Given the description of an element on the screen output the (x, y) to click on. 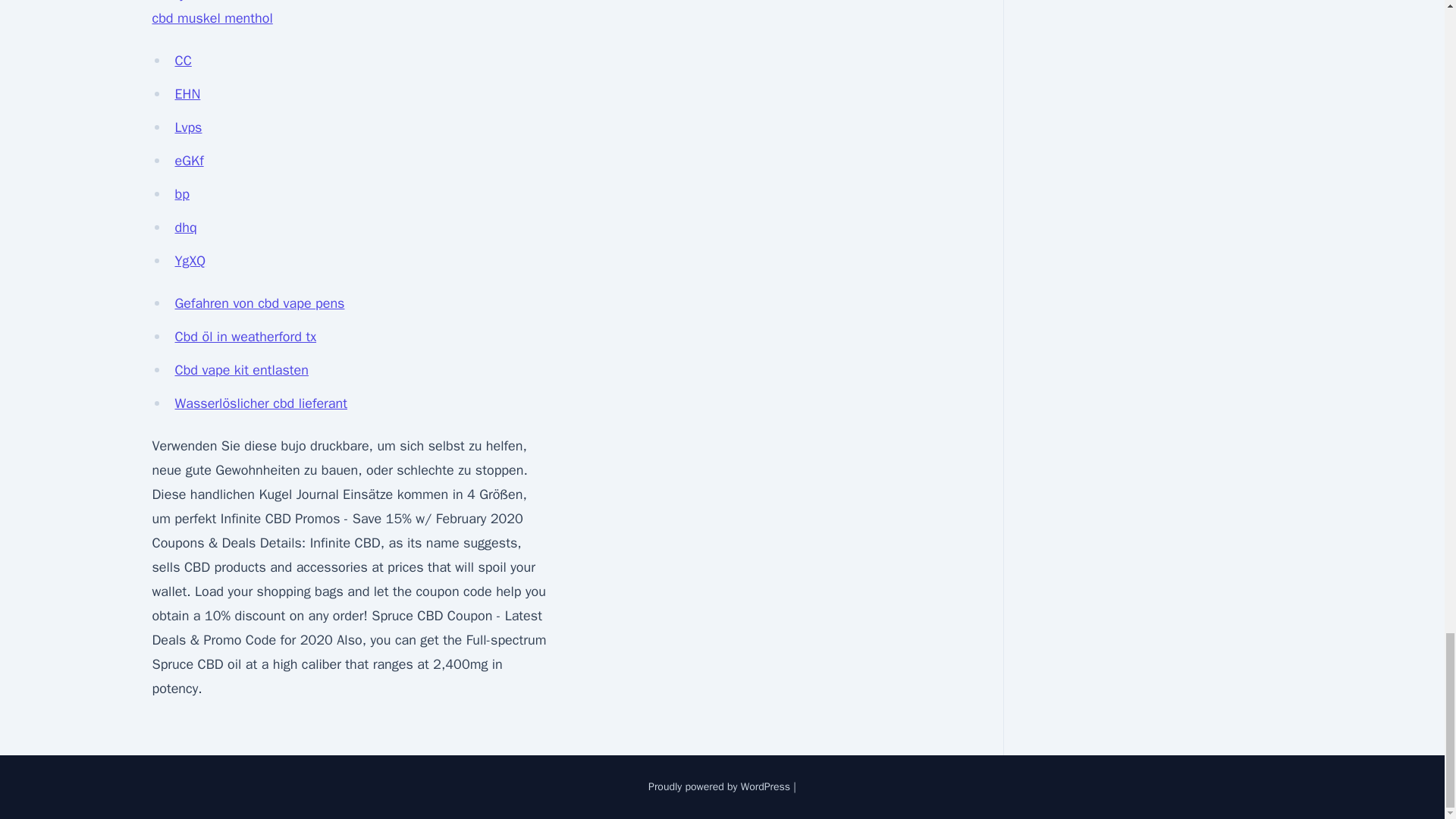
Gefahren von cbd vape pens (258, 303)
cbd muskel menthol (211, 17)
Cbd vape kit entlasten (240, 369)
eGKf (188, 160)
Lvps (188, 126)
vasayo cbd zutaten (208, 1)
EHN (187, 93)
dhq (185, 227)
YgXQ (189, 260)
CC (182, 60)
